Given the description of an element on the screen output the (x, y) to click on. 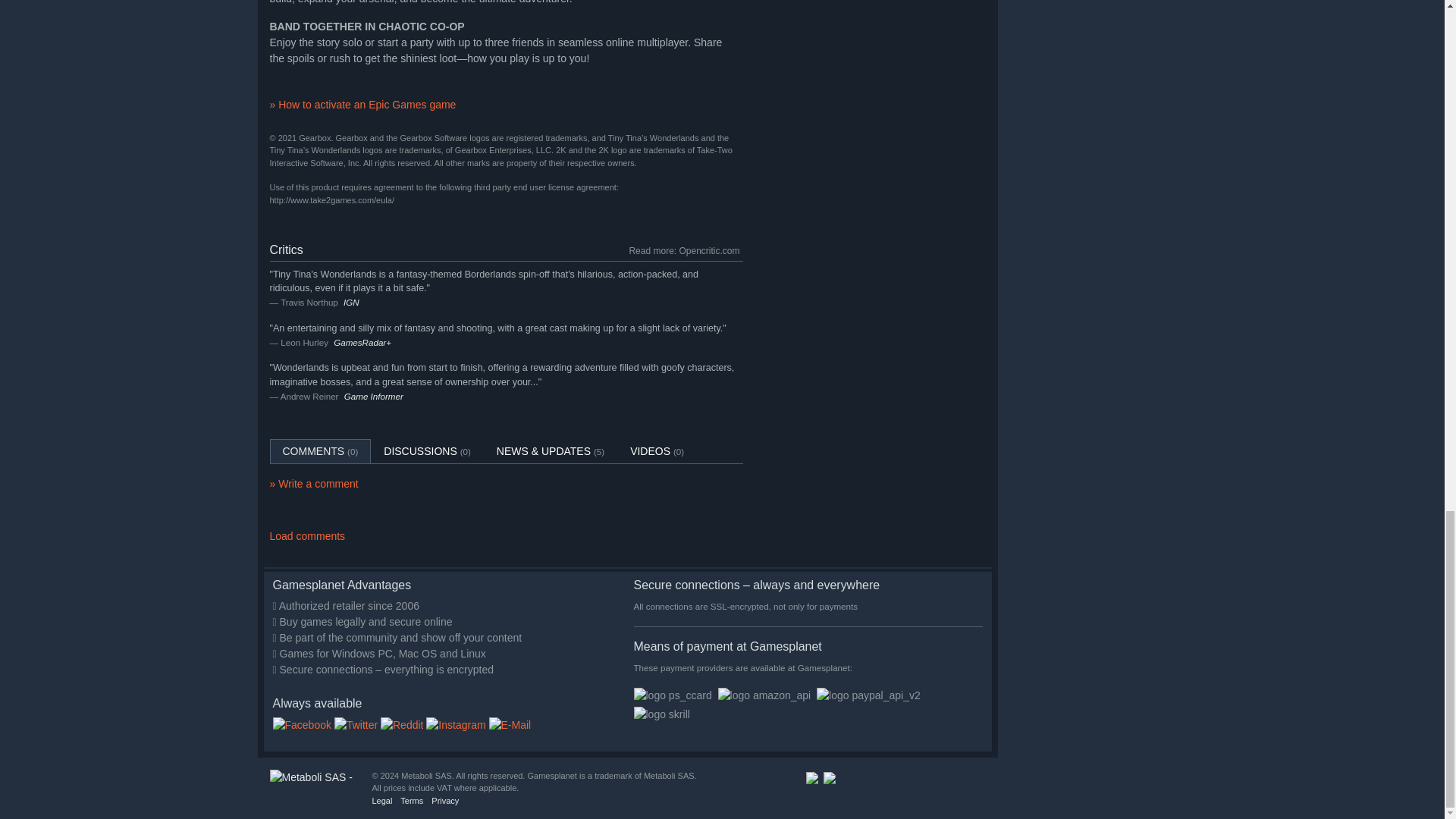
Game Informer (373, 396)
translation missing: en-GB.community.tabs.videos (649, 451)
IGN (351, 302)
